Given the description of an element on the screen output the (x, y) to click on. 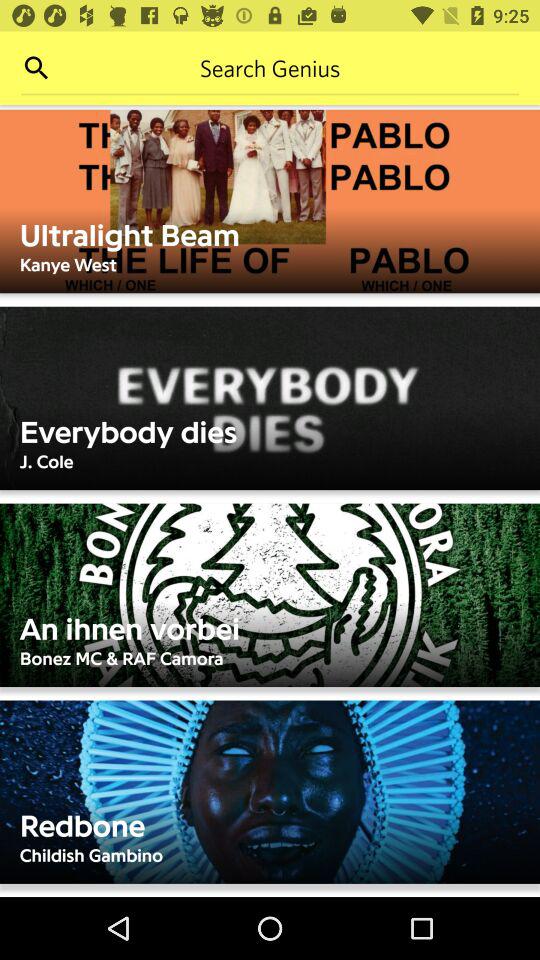
click the icon at the top left corner (36, 68)
